Given the description of an element on the screen output the (x, y) to click on. 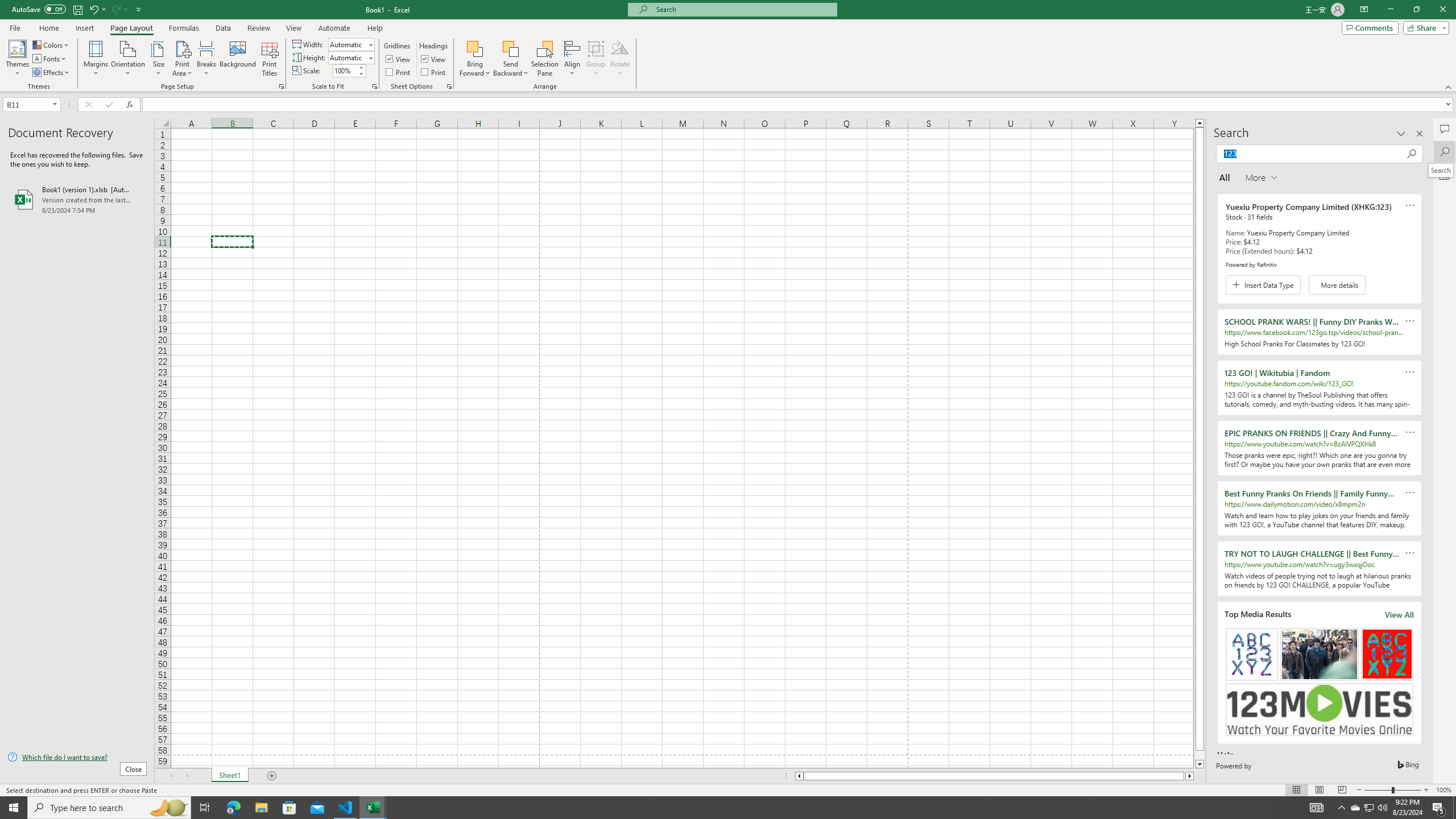
Bring Forward (475, 58)
Width (347, 44)
Selection Pane... (544, 58)
AutoSave (38, 9)
Book1 (version 1).xlsb  [AutoRecovered] (77, 199)
Print Titles (269, 58)
Sheet Options (449, 85)
